Given the description of an element on the screen output the (x, y) to click on. 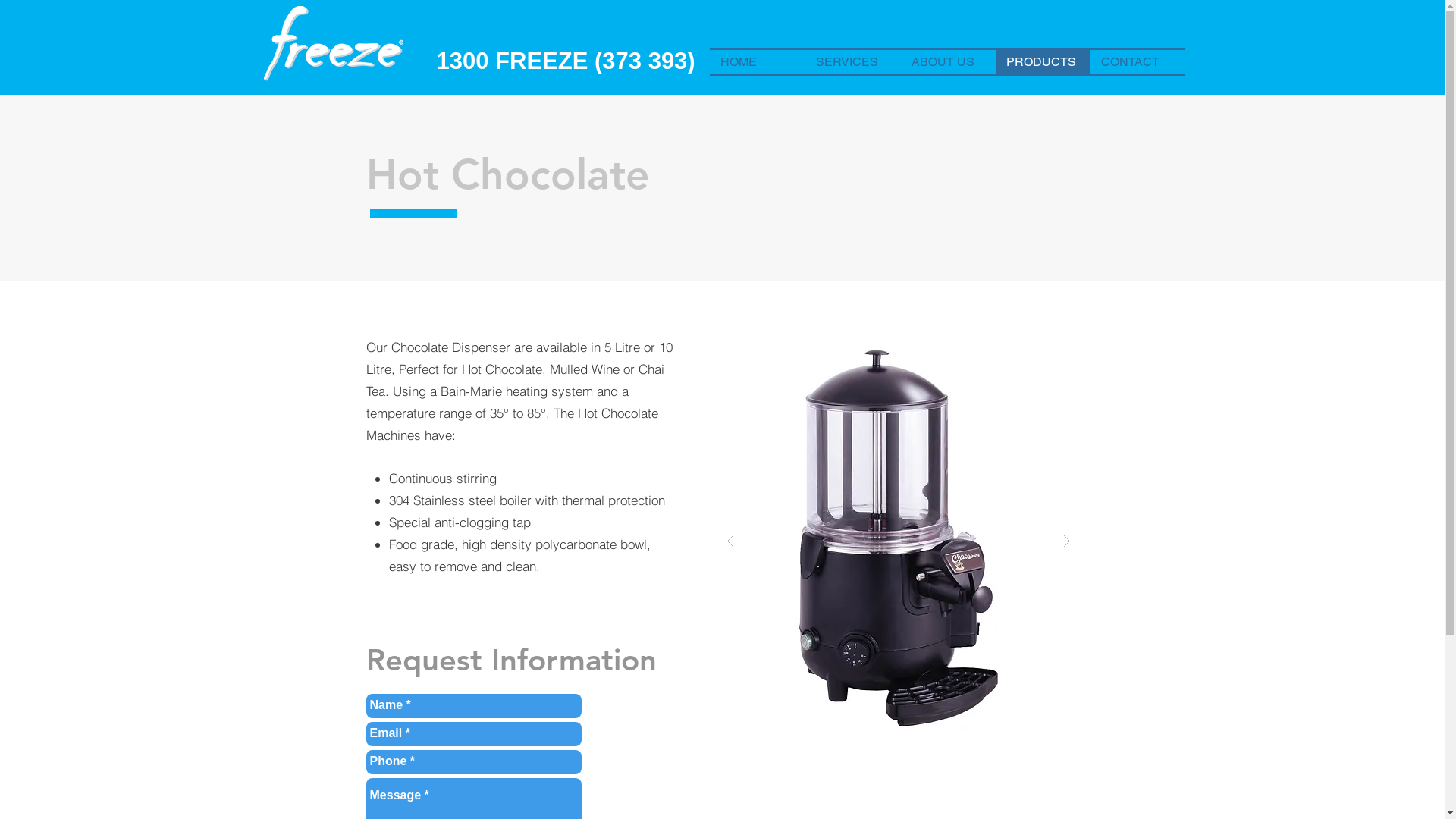
SERVICES Element type: text (852, 61)
PRODUCTS Element type: text (1042, 61)
FREEZE White Logo.png Element type: hover (333, 45)
ABOUT US Element type: text (947, 61)
CONTACT Element type: text (1137, 61)
HOME Element type: text (757, 61)
